Given the description of an element on the screen output the (x, y) to click on. 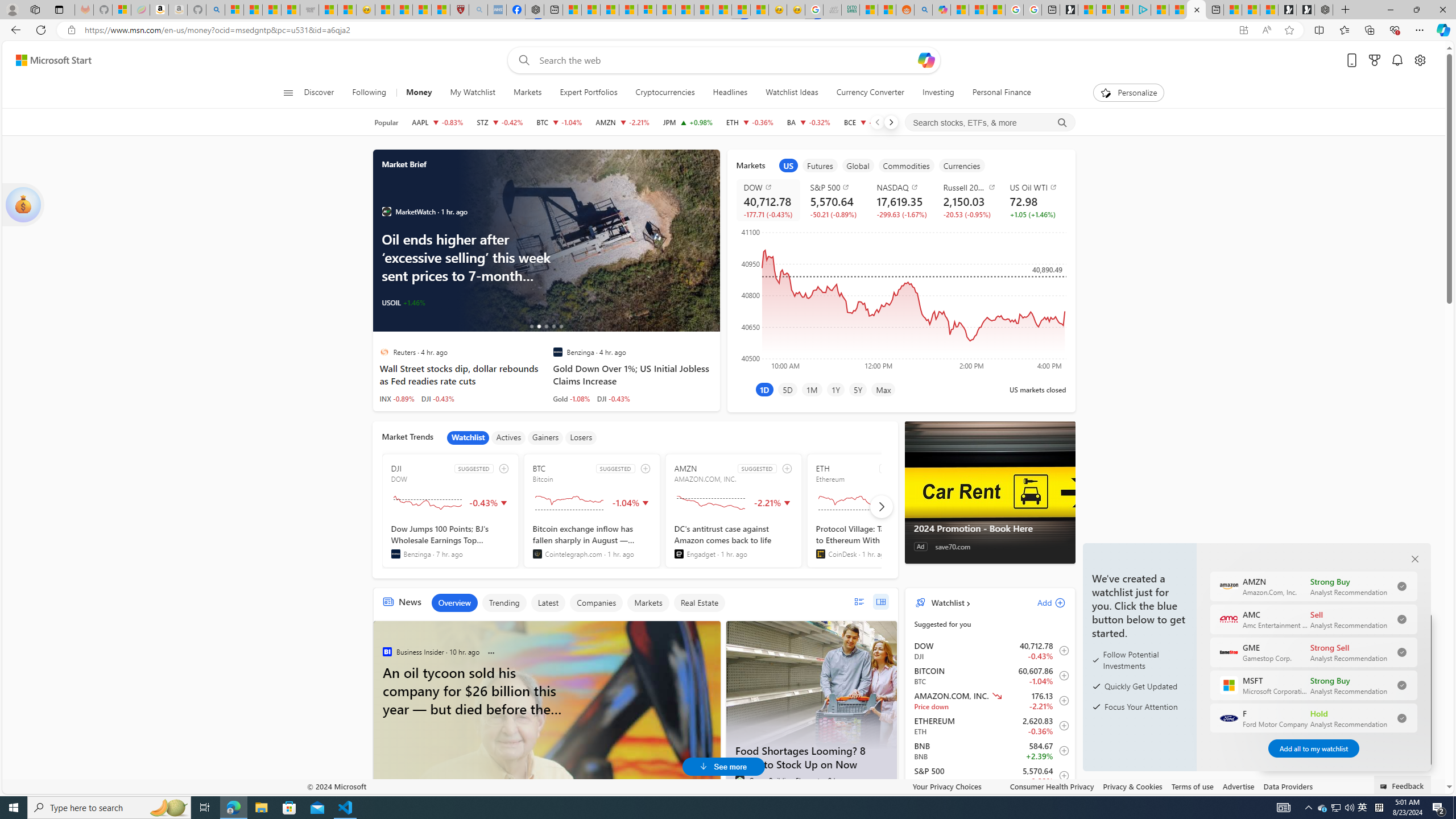
My Watchlist (472, 92)
Money (419, 92)
Watchlist Ideas (791, 92)
Class: oneFooter_seeMore-DS-EntryPoint1-1 (1328, 786)
BA THE BOEING COMPANY decrease 172.87 -0.56 -0.32% (808, 122)
Web search (520, 60)
Privacy & Cookies (1131, 785)
BCE BCE Inc decrease 34.55 -0.08 -0.22% (866, 122)
Next (890, 122)
